Given the description of an element on the screen output the (x, y) to click on. 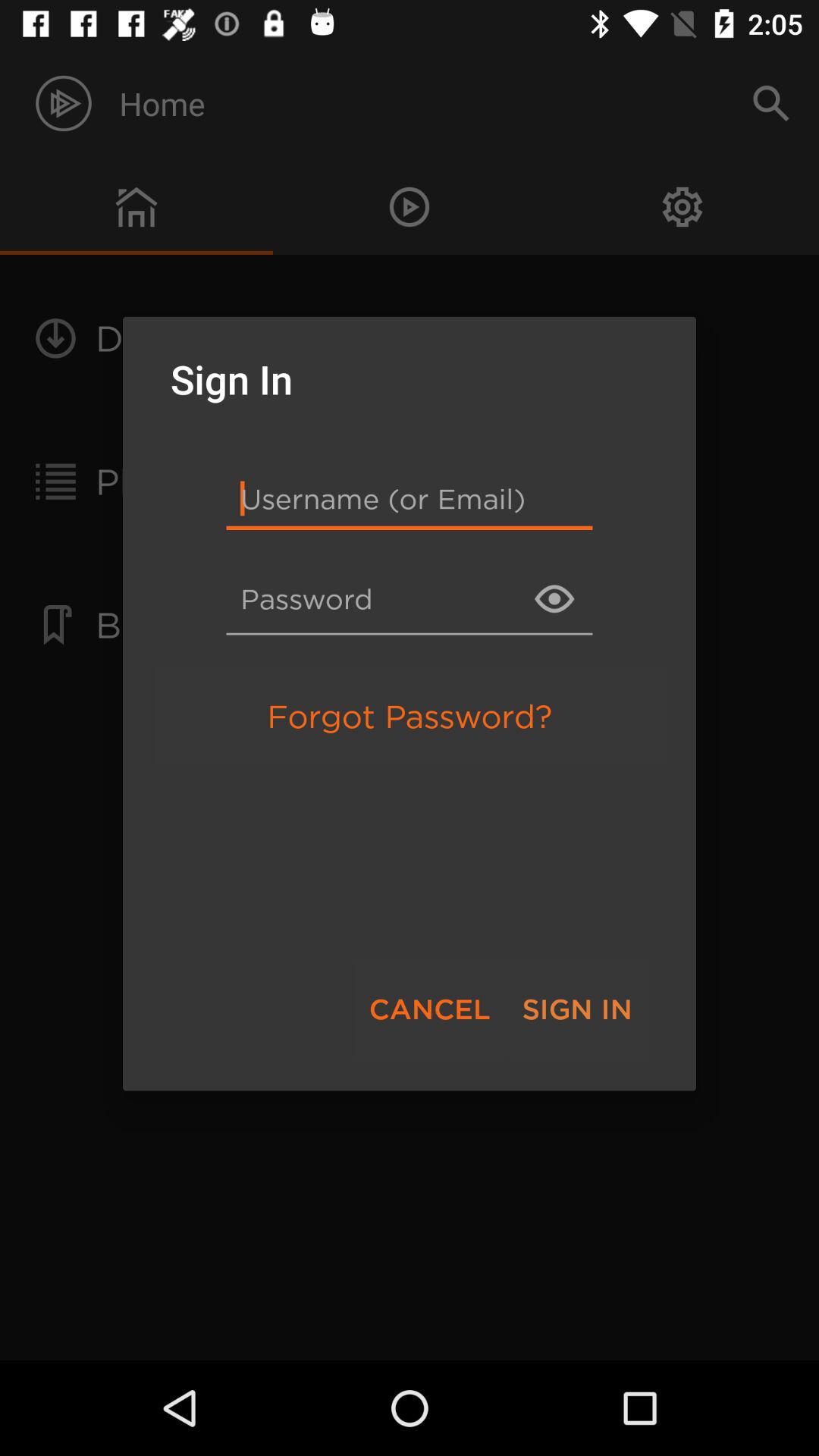
open the icon above forgot password? item (409, 598)
